Given the description of an element on the screen output the (x, y) to click on. 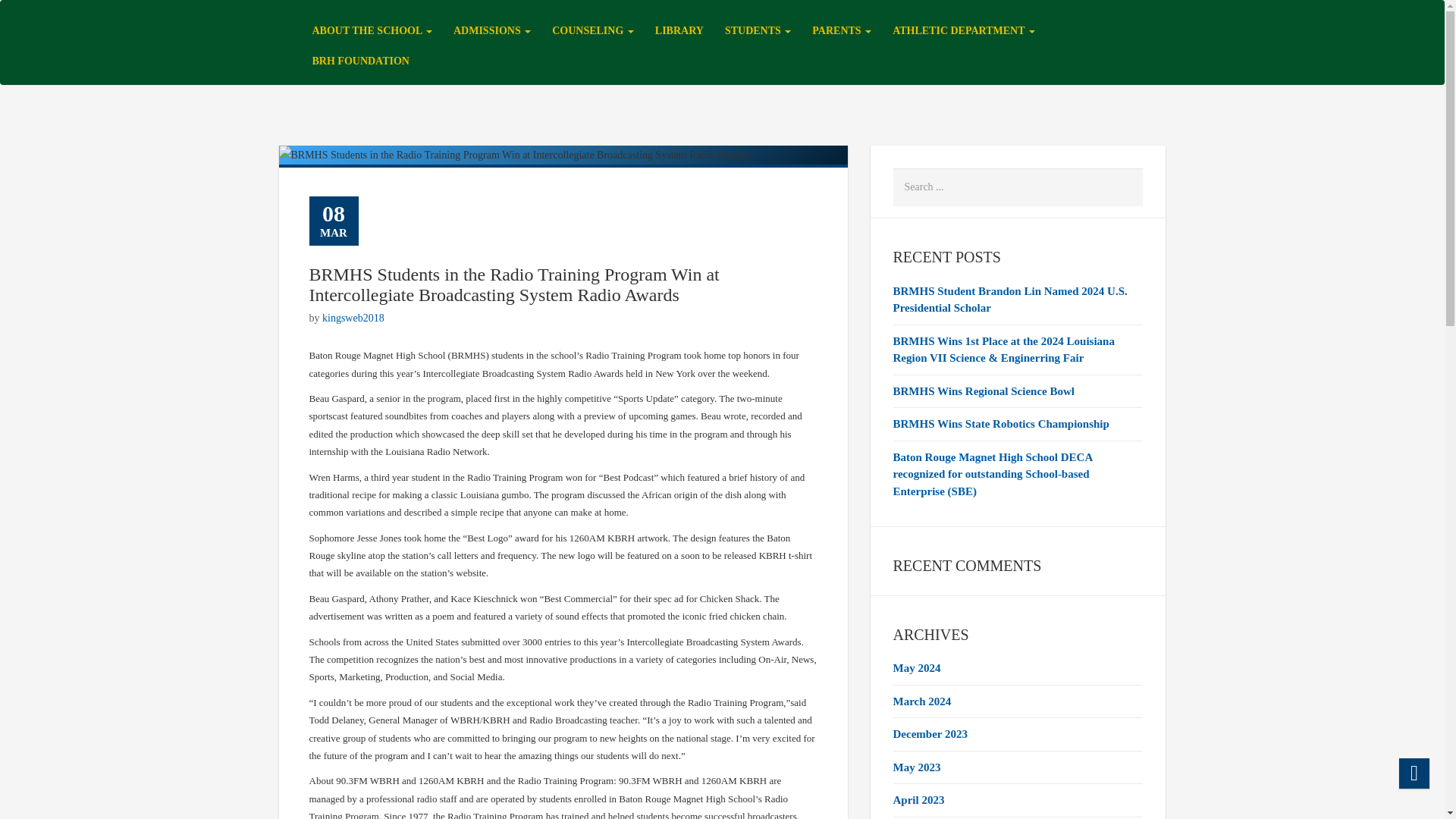
ABOUT THE SCHOOL (372, 30)
